Given the description of an element on the screen output the (x, y) to click on. 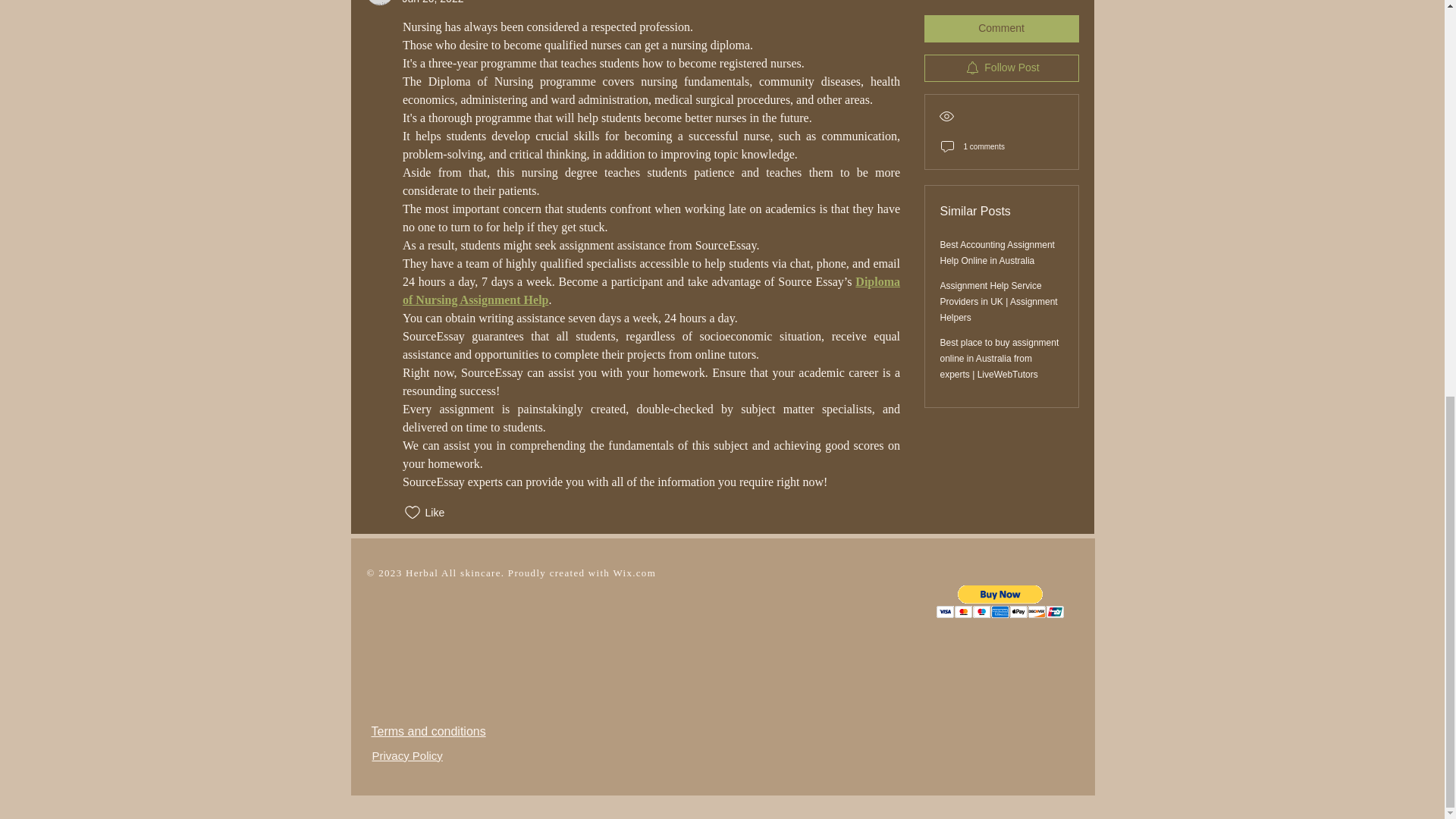
Terms and conditions (428, 730)
Diploma of Nursing Assignment Help (651, 290)
Eva Smith (379, 2)
Wix.com (634, 572)
